Given the description of an element on the screen output the (x, y) to click on. 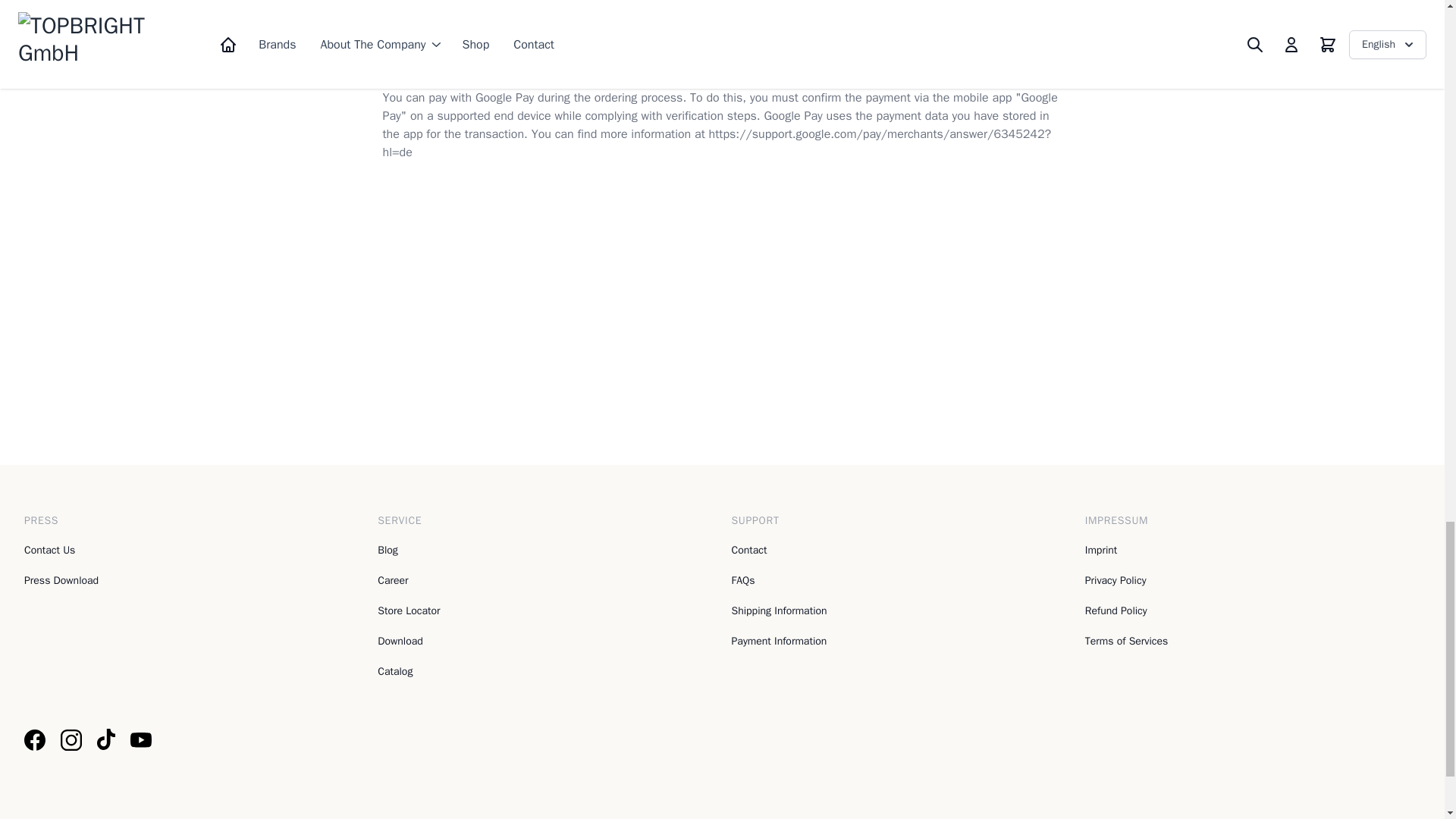
Blog (387, 549)
Contact Us (49, 549)
Press Download (61, 580)
